Given the description of an element on the screen output the (x, y) to click on. 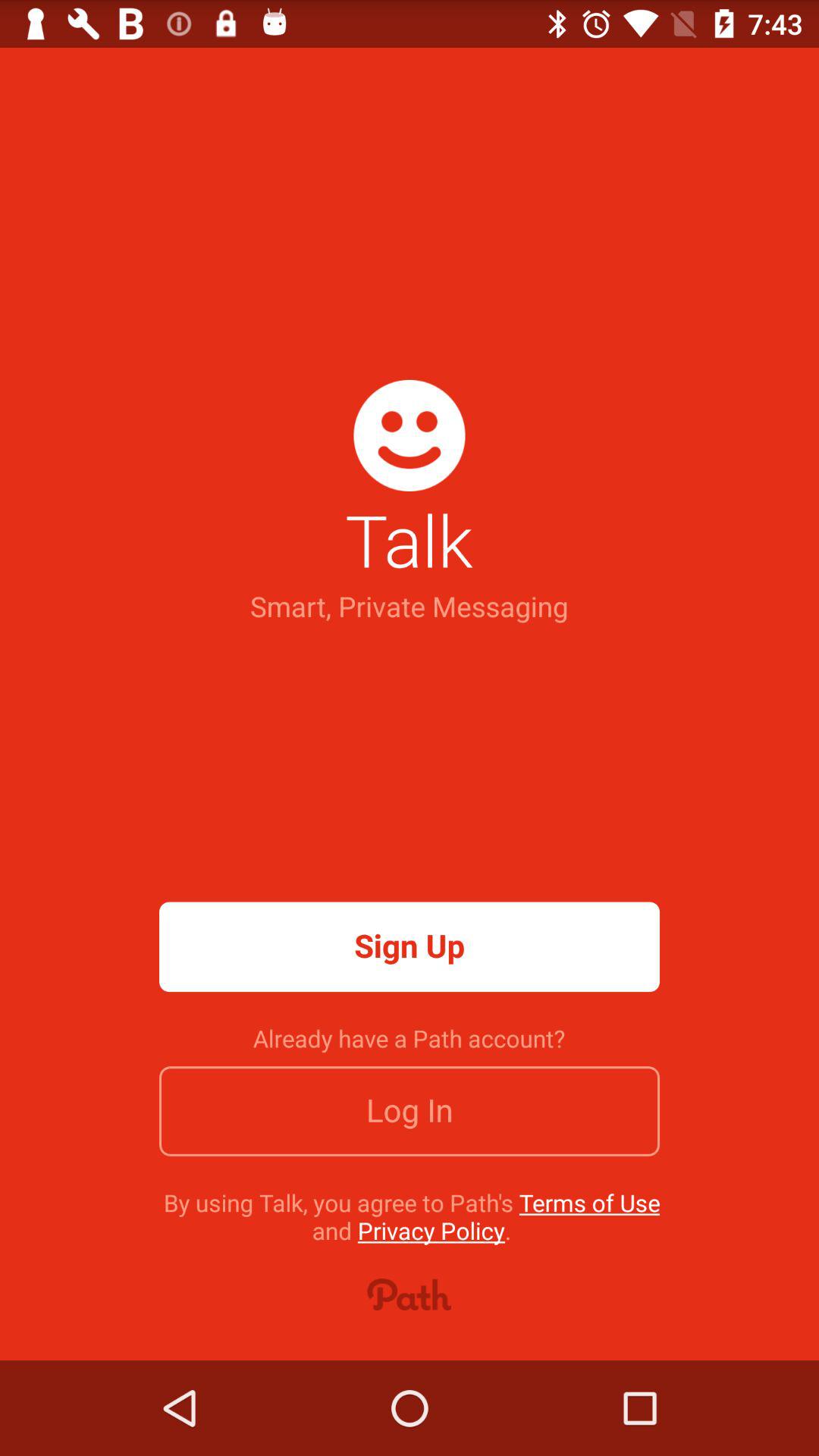
jump until the sign up item (409, 946)
